Given the description of an element on the screen output the (x, y) to click on. 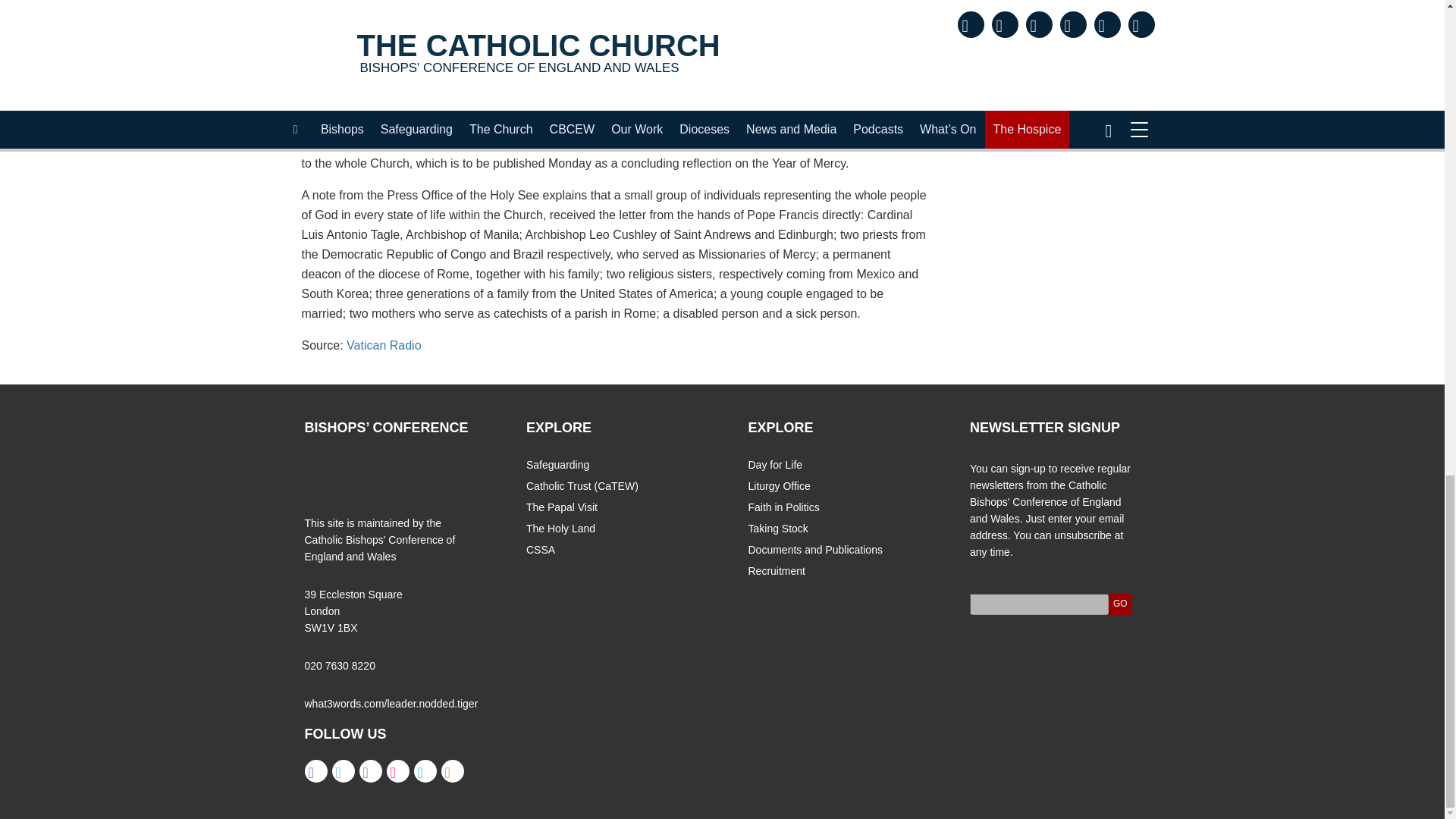
Go (1120, 604)
